Given the description of an element on the screen output the (x, y) to click on. 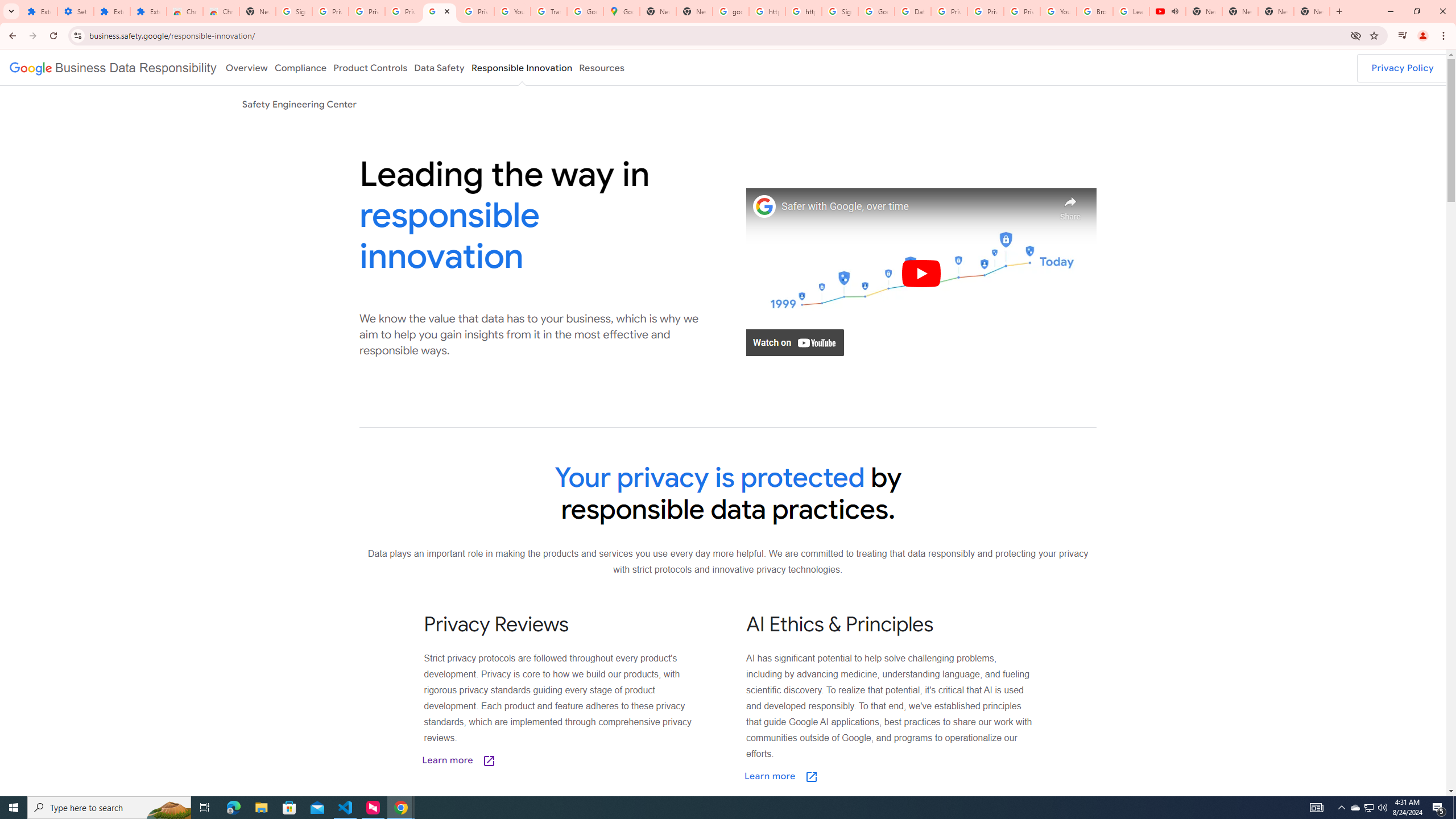
Safety Engineering Center (299, 103)
https://scholar.google.com/ (767, 11)
Sign in - Google Accounts (293, 11)
Extensions (111, 11)
Extensions (148, 11)
Extensions (39, 11)
